Given the description of an element on the screen output the (x, y) to click on. 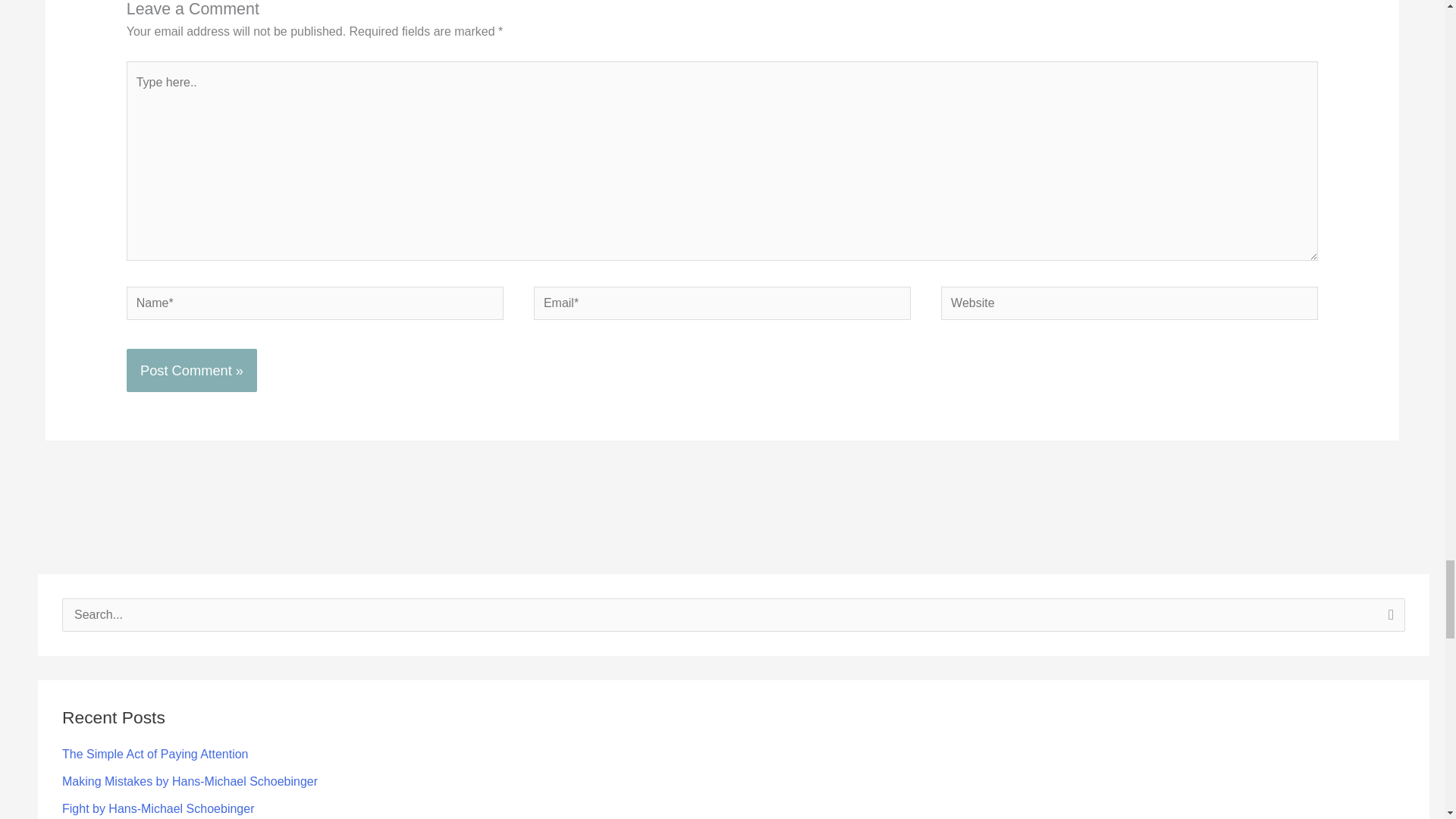
The Simple Act of Paying Attention (154, 753)
